Given the description of an element on the screen output the (x, y) to click on. 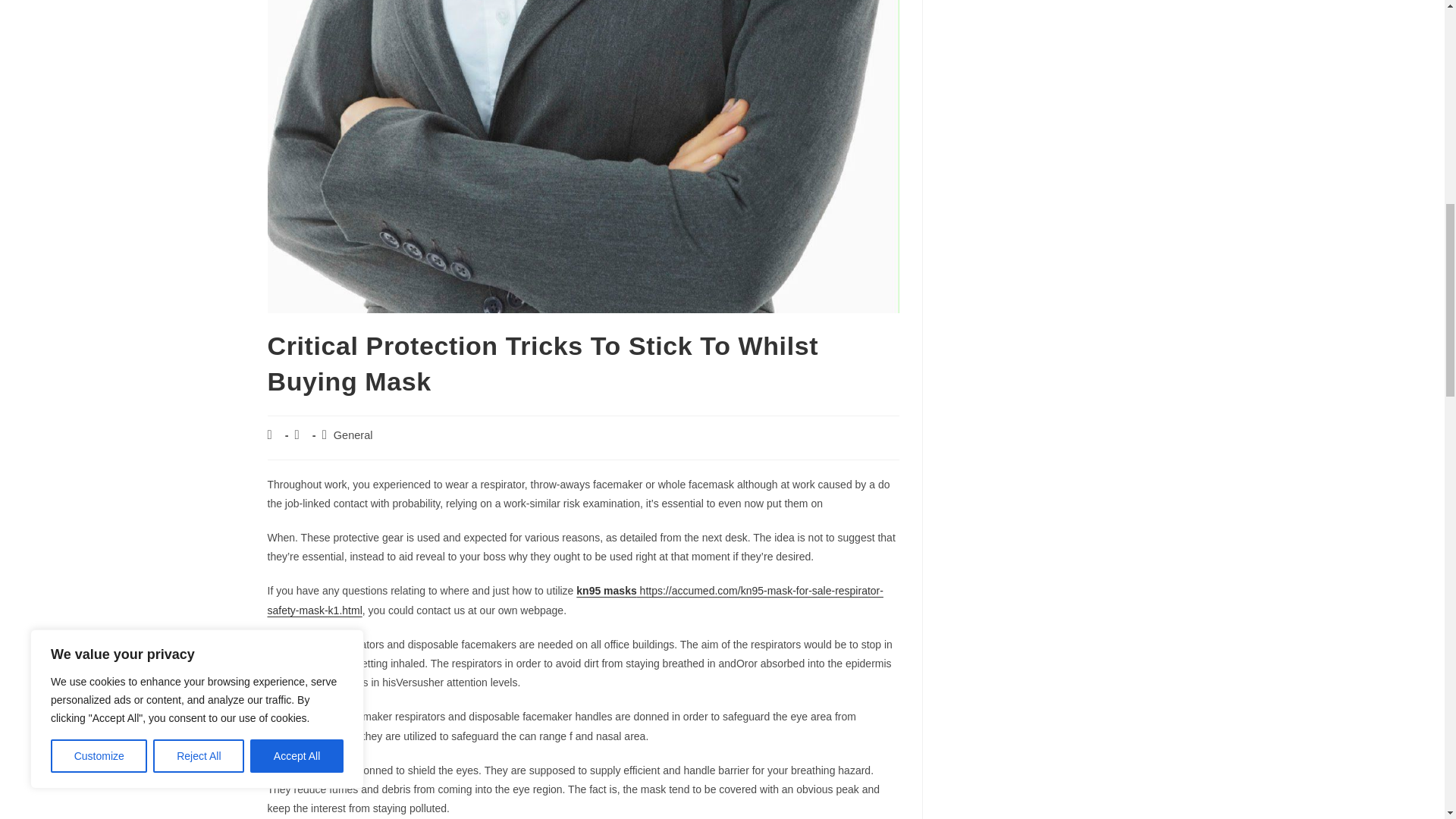
General (352, 435)
